Given the description of an element on the screen output the (x, y) to click on. 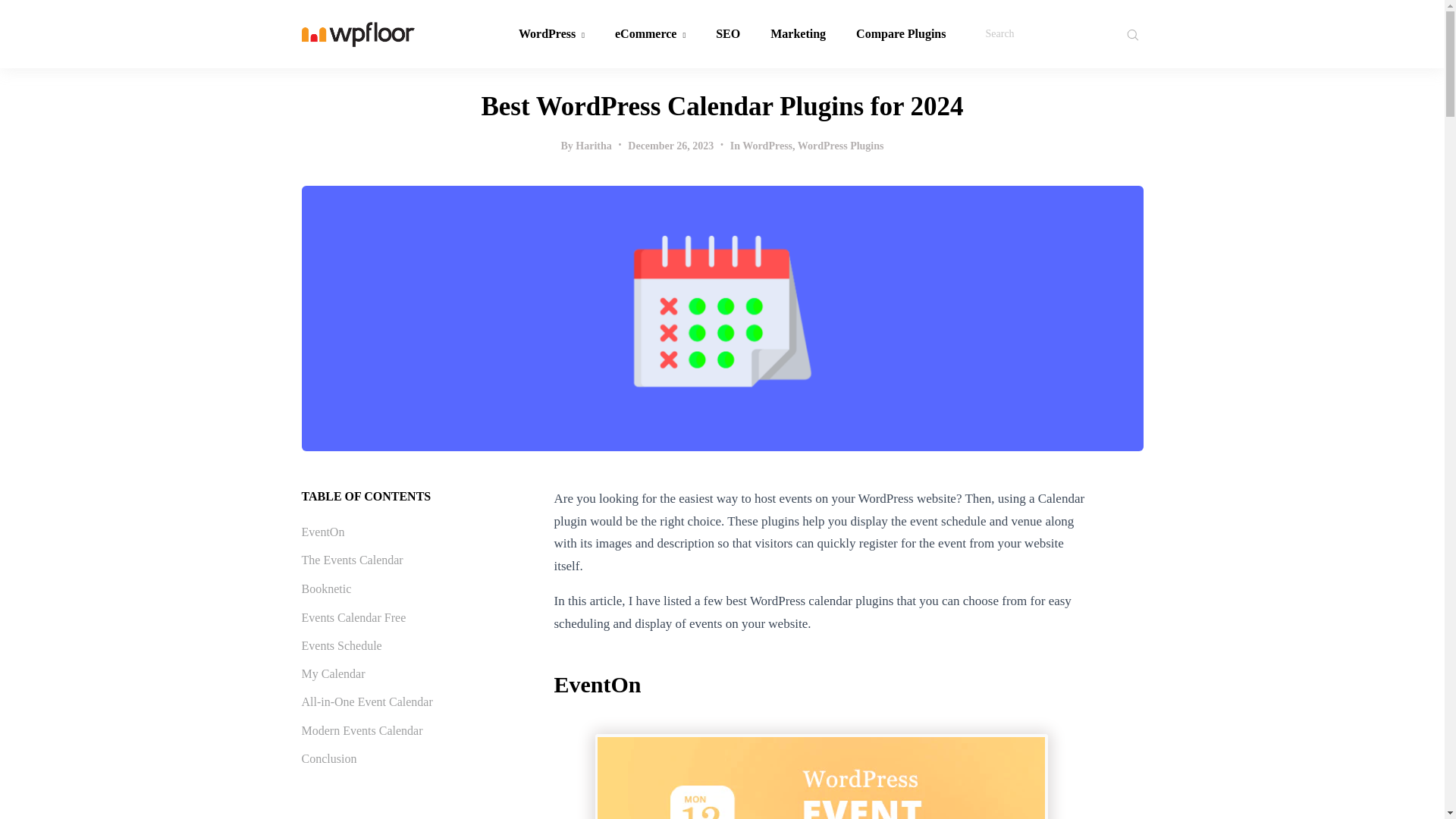
Modern Events Calendar (362, 730)
Booknetic (326, 588)
Events Schedule (341, 645)
The Events Calendar (352, 559)
Compare Plugins (900, 33)
WordPress (551, 33)
My Calendar (333, 673)
Conclusion (328, 758)
EventOn (323, 531)
Haritha (593, 145)
Events Calendar Free (353, 617)
WordPress Plugins (840, 145)
eCommerce (649, 33)
WordPress (767, 145)
All-in-One Event Calendar (366, 701)
